Given the description of an element on the screen output the (x, y) to click on. 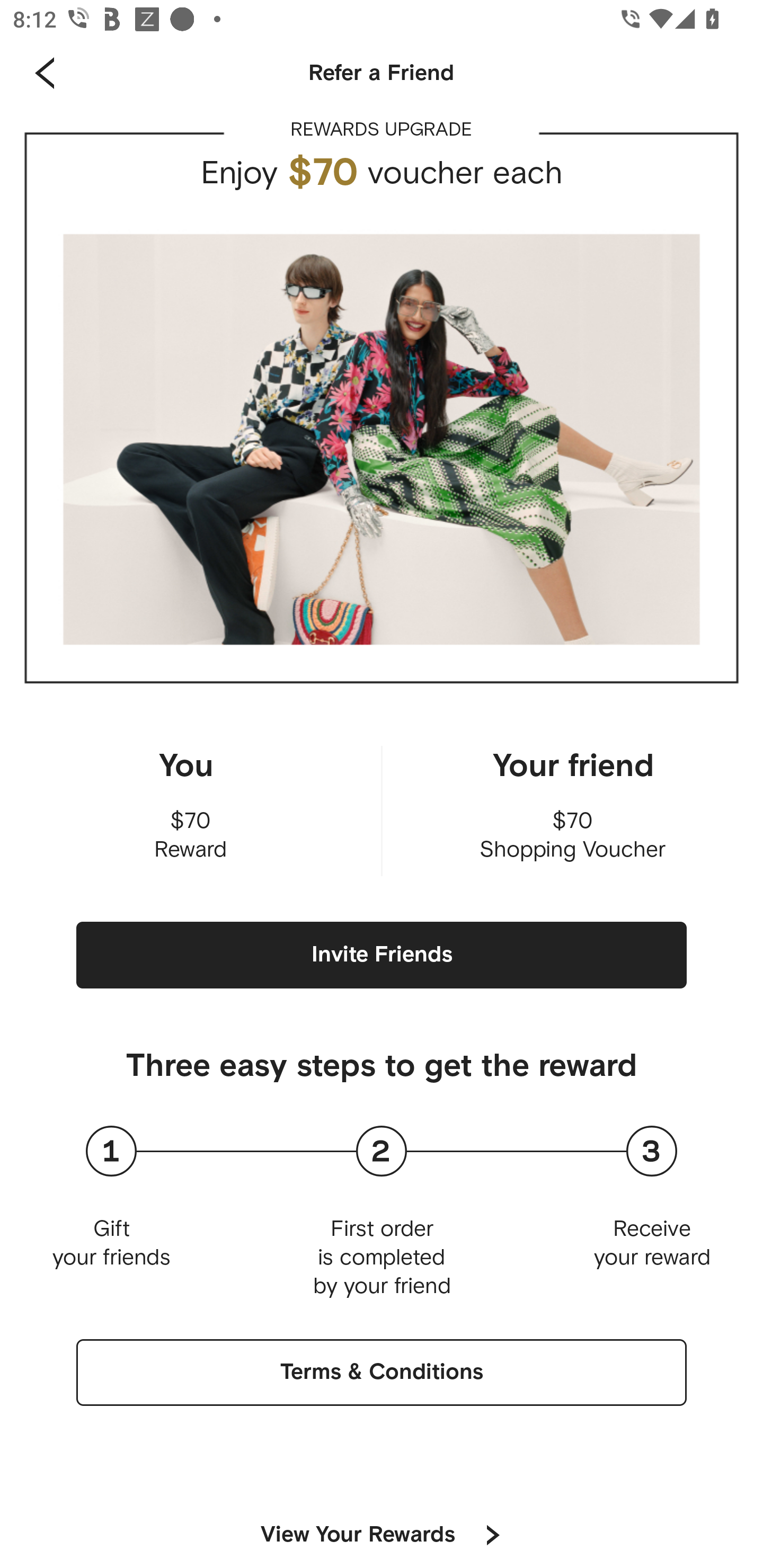
Invite Friends (381, 954)
Terms & Conditions (381, 1372)
View Your Rewards (357, 1524)
